Given the description of an element on the screen output the (x, y) to click on. 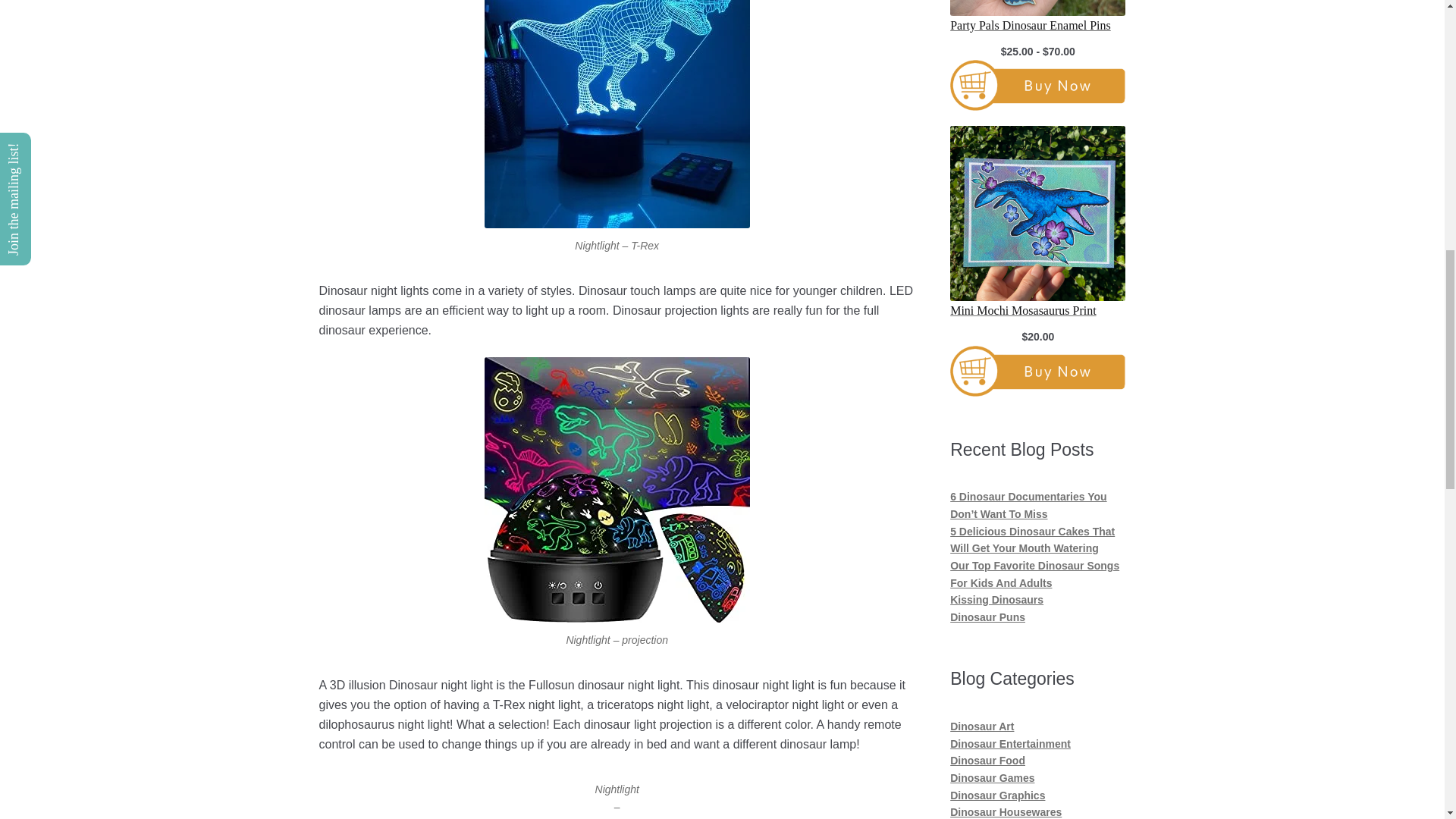
Dinosaur Puns (987, 616)
Dinosaur Art (981, 726)
Kissing Dinosaurs (996, 599)
Dinosaur Entertainment (1010, 743)
Mini Mochi Mosasaurus Print (1037, 311)
Party Pals Dinosaur Enamel Pins (1037, 25)
Our Top Favorite Dinosaur Songs For Kids And Adults (1034, 573)
5 Delicious Dinosaur Cakes That Will Get Your Mouth Watering (1032, 540)
